Given the description of an element on the screen output the (x, y) to click on. 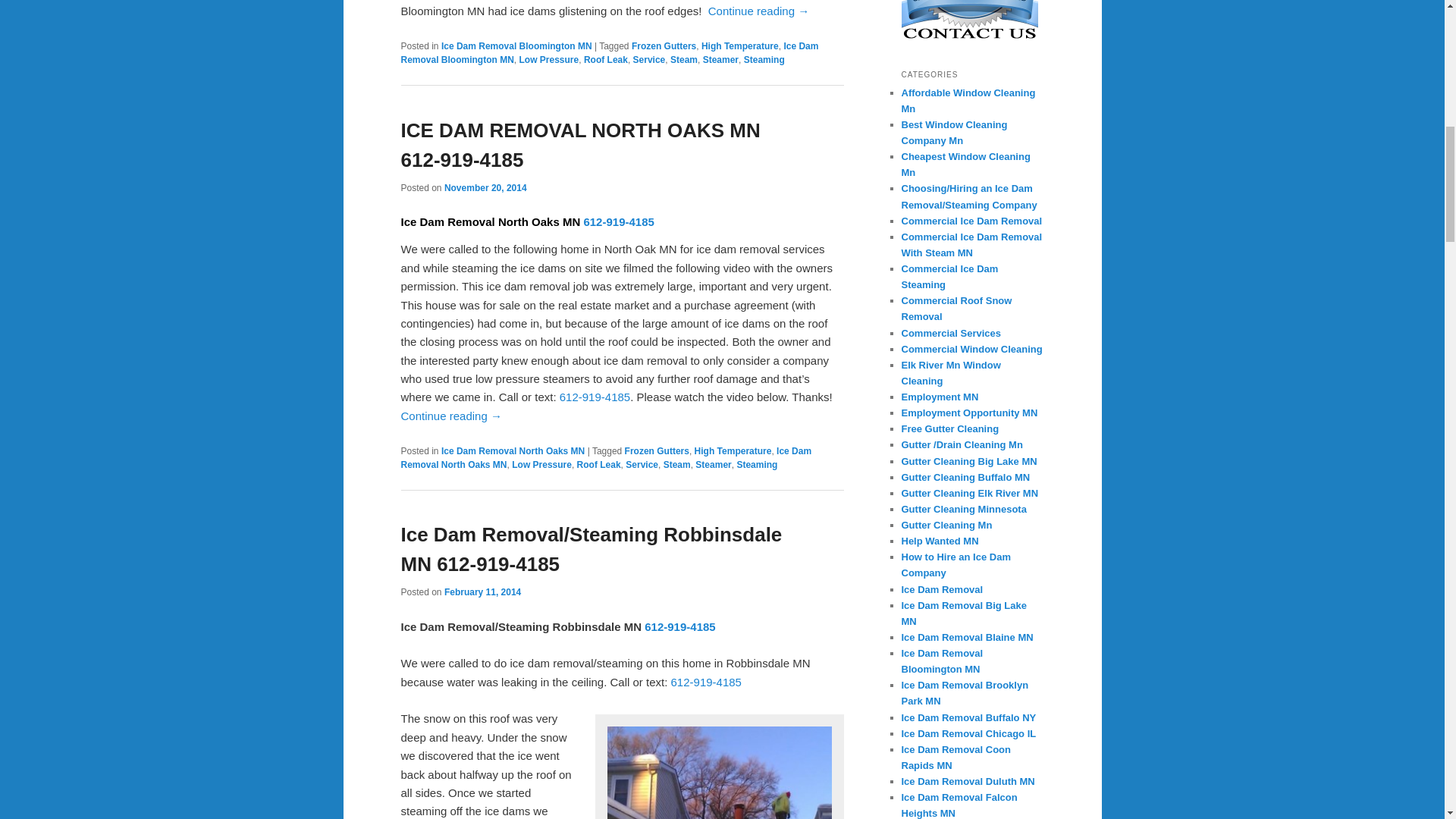
Roof Leak (605, 59)
High Temperature (739, 45)
Low Pressure (549, 59)
Ice Dam Removal Bloomington MN (516, 45)
High Temperature (732, 450)
Steamer (720, 59)
Ice Dam Removal North Oaks MN (513, 450)
Low Pressure (542, 464)
Steaming (764, 59)
1:53 am (482, 592)
ICE DAM REMOVAL NORTH OAKS MN 612-919-4185 (580, 144)
612-919-4185 (594, 396)
Ice Dam Removal North Oaks MN (605, 457)
Ice Dam Removal Bloomington MN (609, 52)
Service (649, 59)
